Given the description of an element on the screen output the (x, y) to click on. 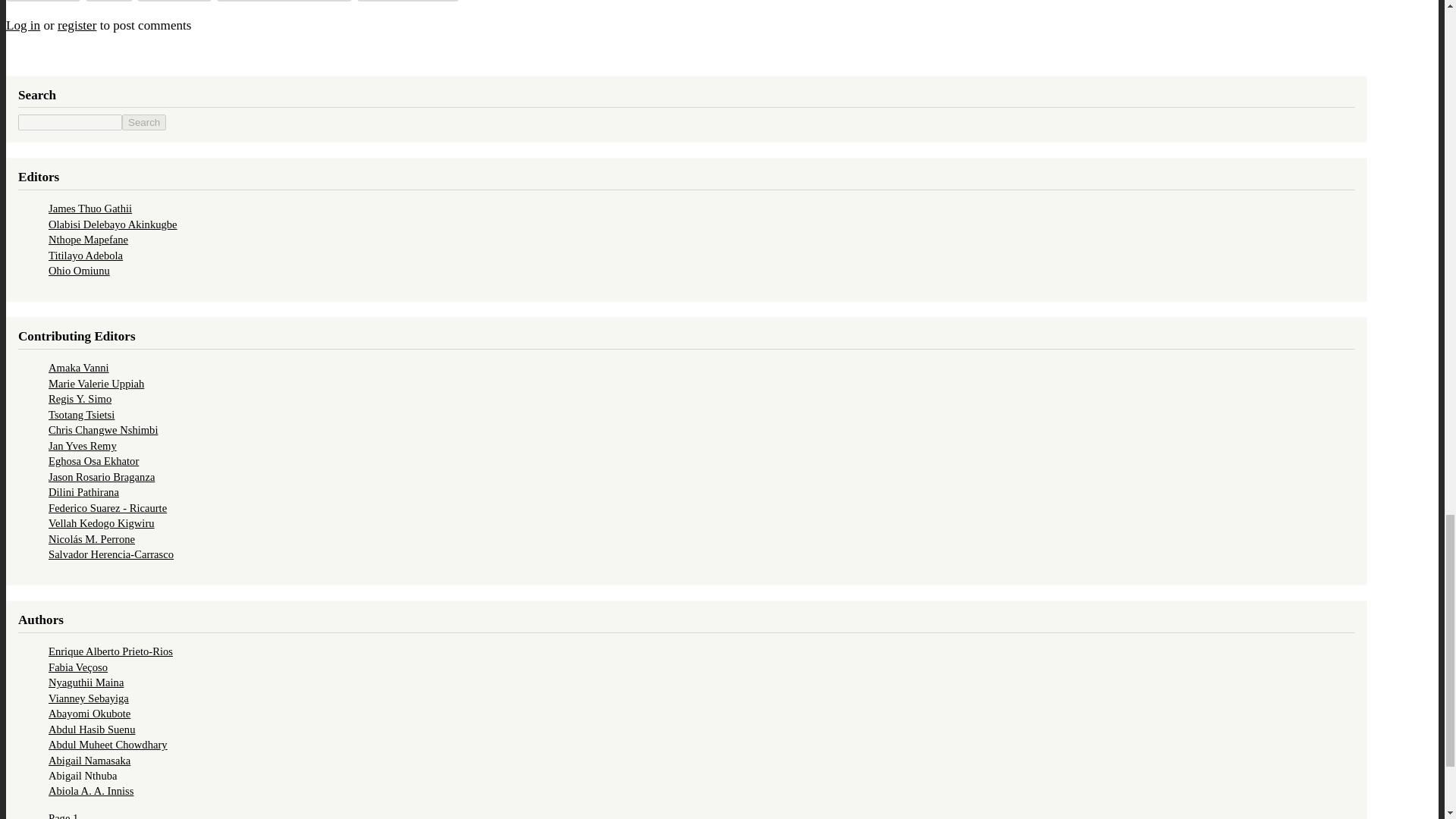
Zambia (108, 0)
Neoliberalism (173, 0)
Enter the terms you wish to search for. (69, 122)
Central Banks (42, 0)
